Given the description of an element on the screen output the (x, y) to click on. 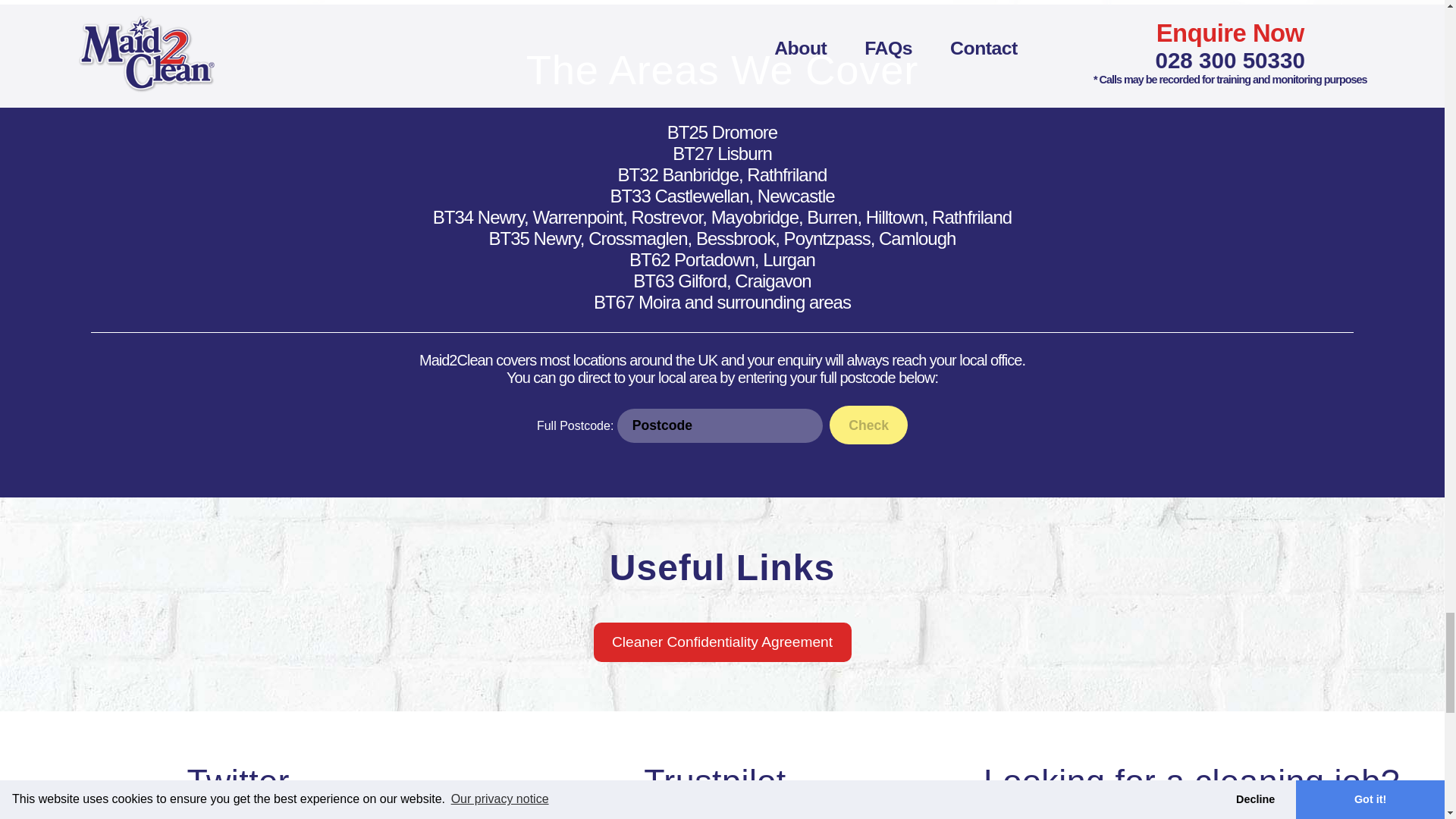
Check (868, 424)
Cleaner Confidentiality Agreement (721, 641)
